Given the description of an element on the screen output the (x, y) to click on. 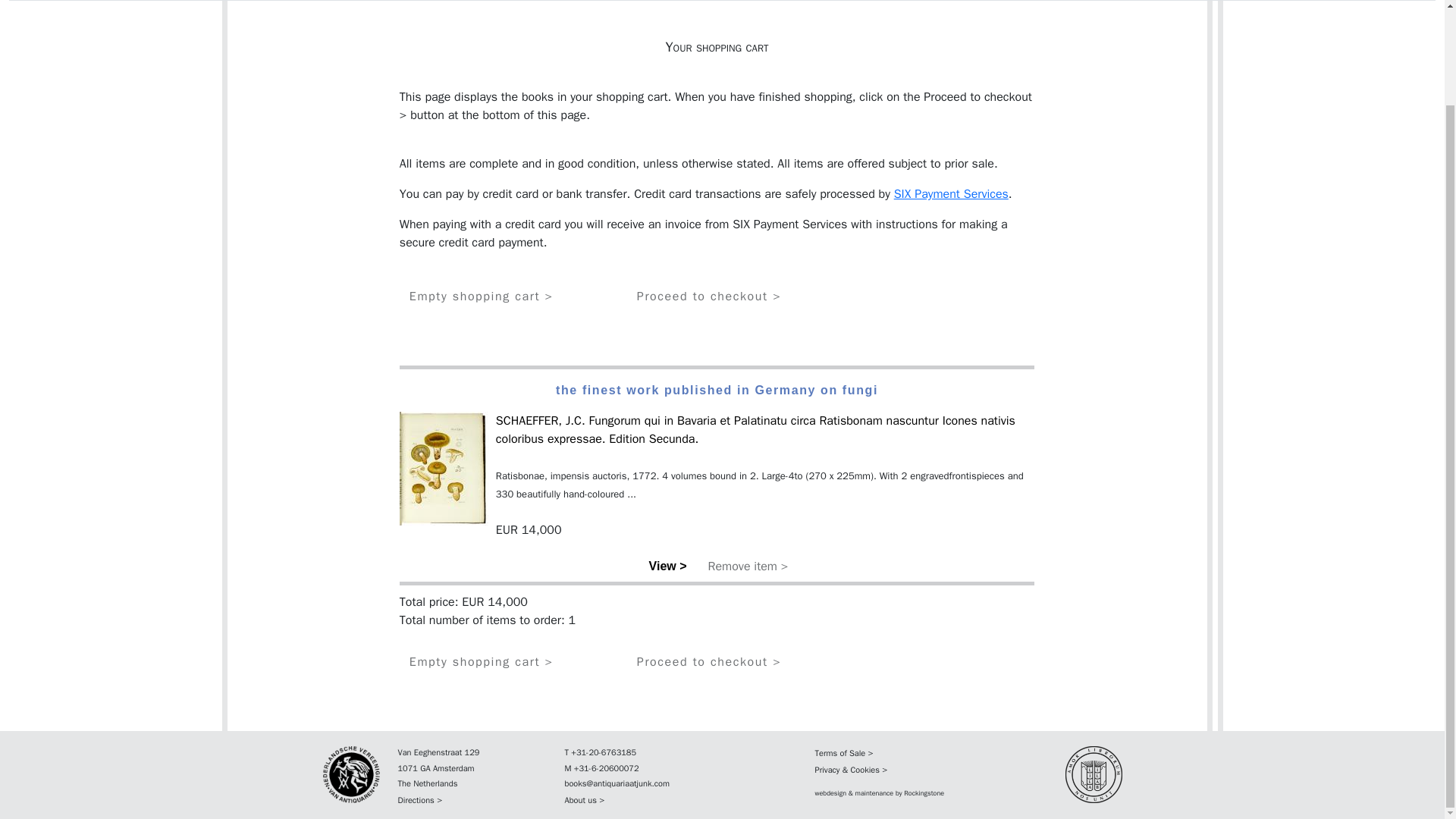
view full description (442, 467)
SIX Payment Services (951, 193)
SCHAEFFER, J.C. (542, 420)
view full description (542, 420)
view full description (755, 429)
view full description (667, 566)
Rockingstone (923, 792)
SIX Payment Services (951, 193)
